Given the description of an element on the screen output the (x, y) to click on. 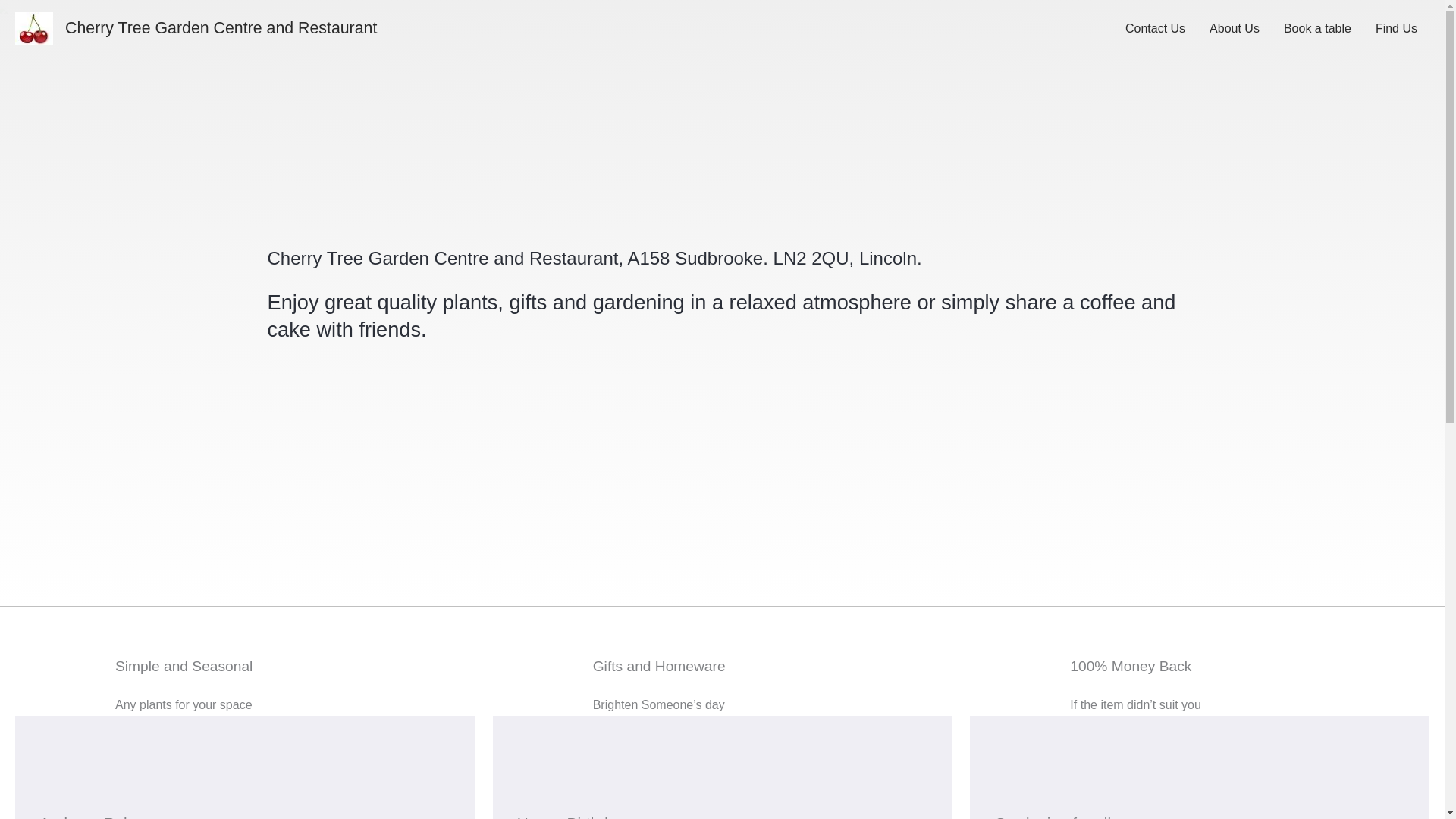
Find Us (1395, 28)
Contact Us (1154, 28)
Book a table (1316, 28)
About Us (1233, 28)
Cherry Tree Garden Centre and Restaurant (221, 27)
